Given the description of an element on the screen output the (x, y) to click on. 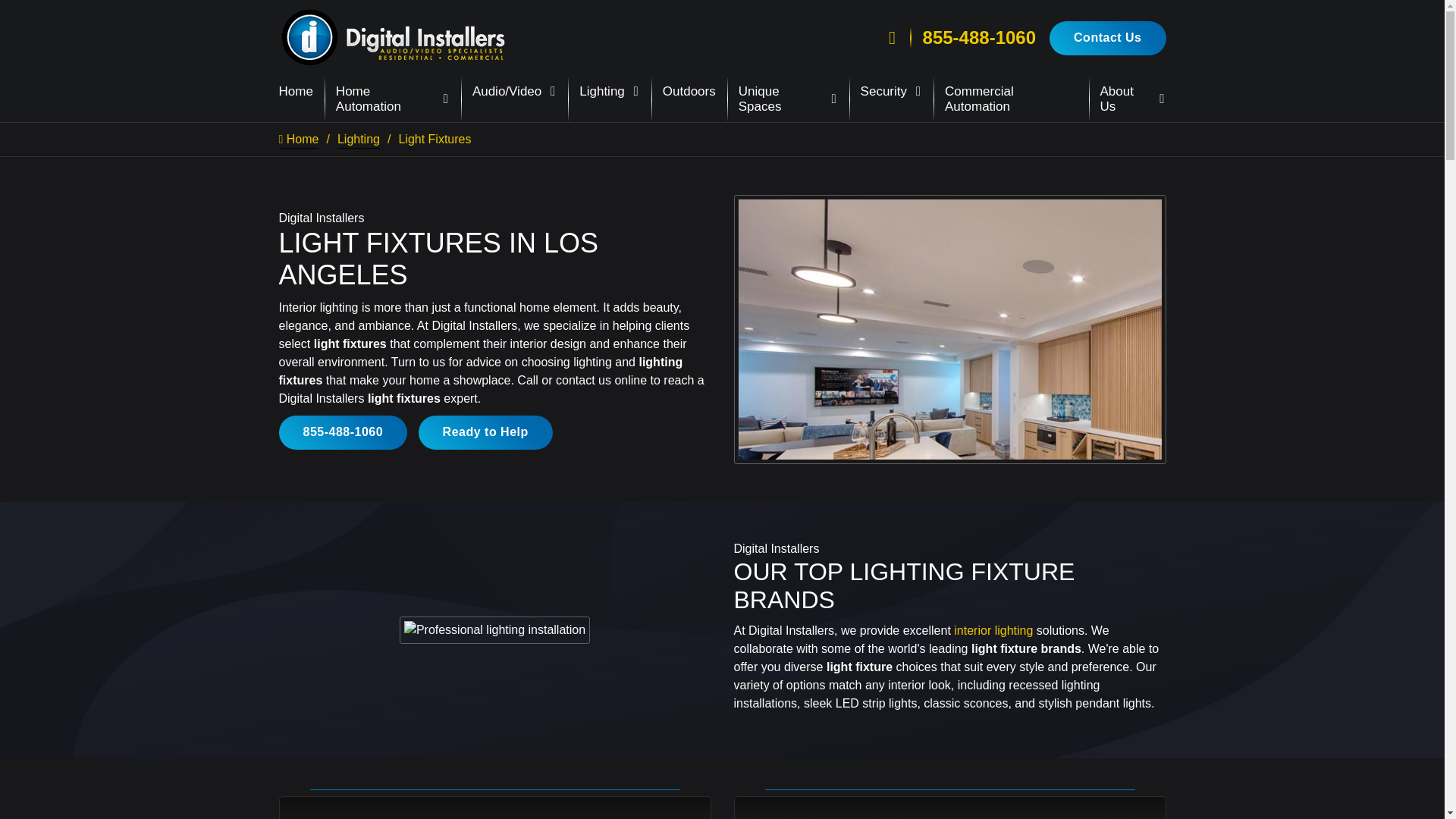
Commercial Automation (1010, 99)
Security (890, 91)
855-488-1060 (979, 37)
About Us (1133, 99)
Contact Us (1107, 38)
Lighting (609, 91)
Outdoors (689, 91)
Home Automation (392, 99)
Home (296, 91)
Unique Spaces (788, 99)
